Given the description of an element on the screen output the (x, y) to click on. 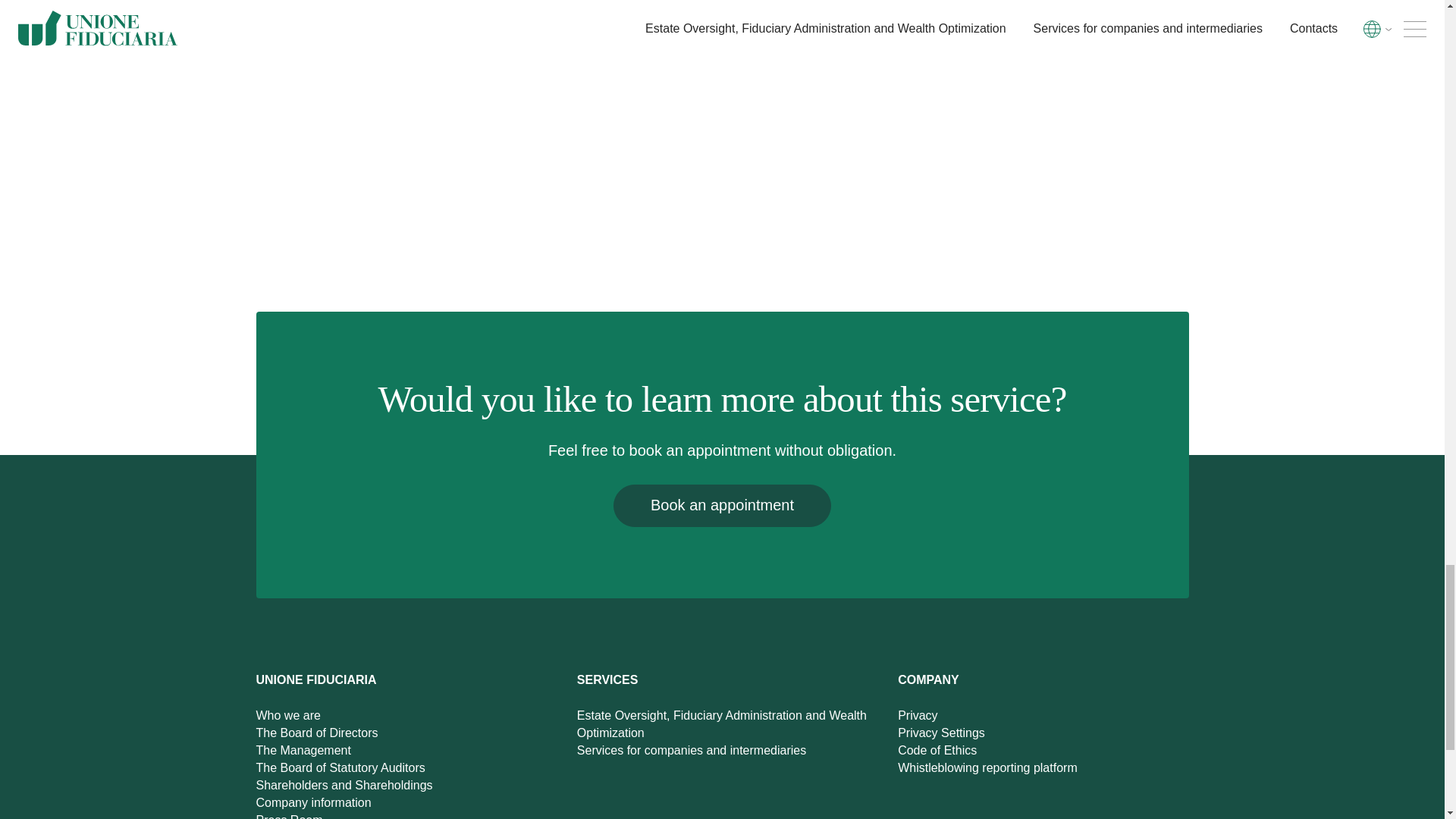
The Management (303, 757)
The Board of Statutory Auditors (340, 775)
Company information (313, 807)
Press Room (289, 816)
Shareholders and Shareholdings (344, 792)
The Board of Directors (317, 740)
Who we are (288, 723)
Book an appointment (721, 505)
